Given the description of an element on the screen output the (x, y) to click on. 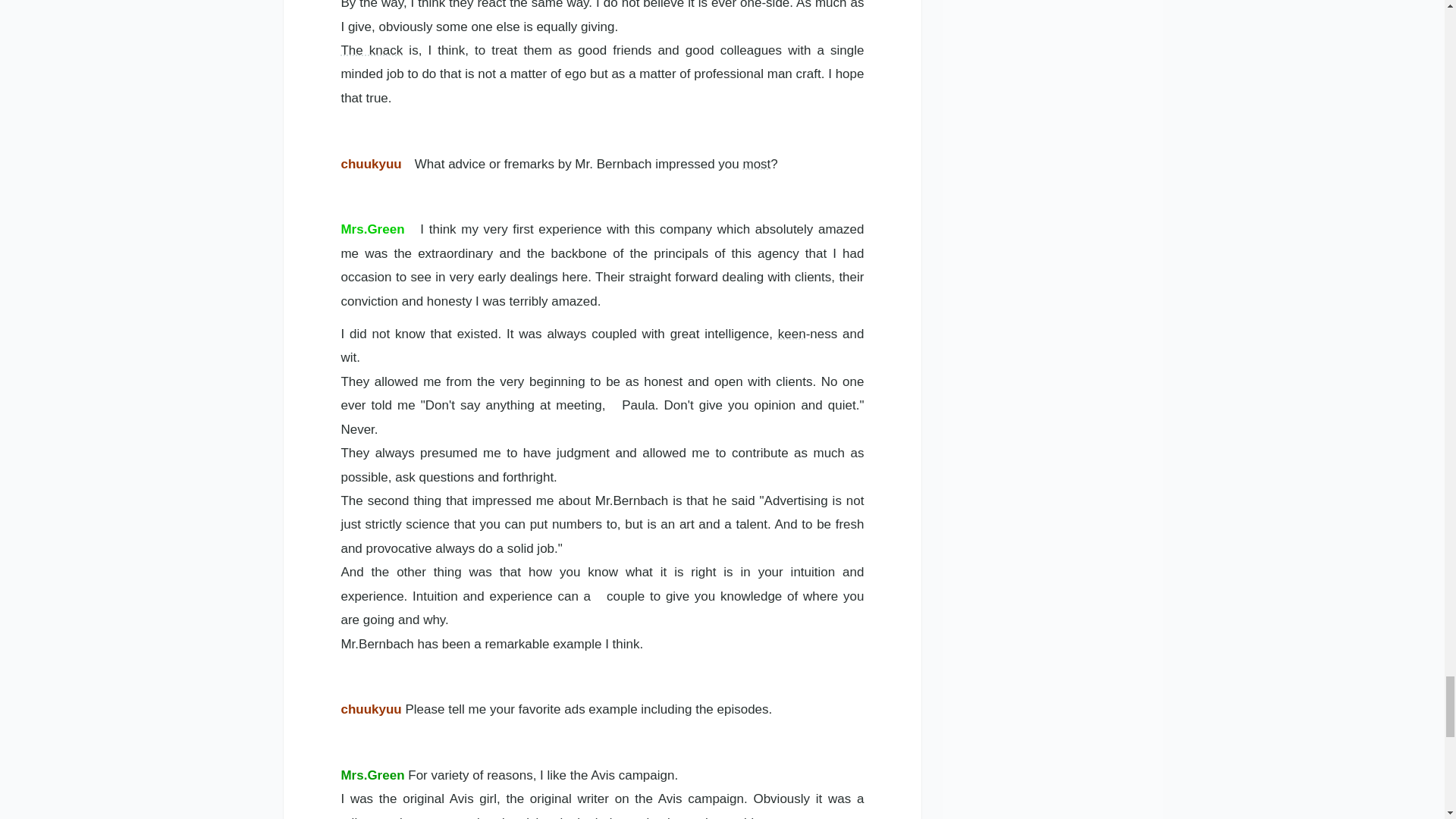
most (756, 164)
The knack (371, 50)
